Given the description of an element on the screen output the (x, y) to click on. 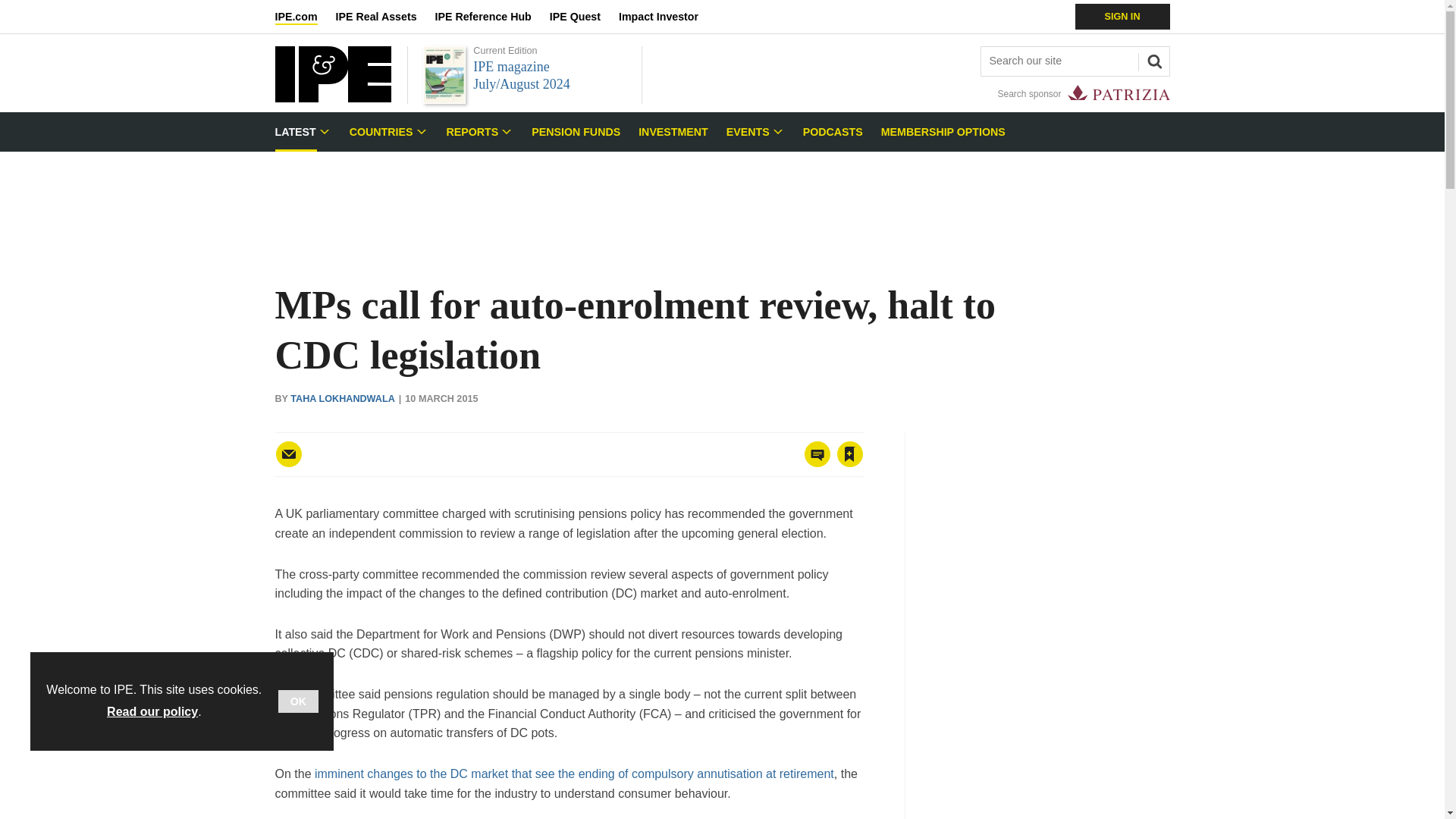
IPE Reference Hub (491, 16)
SEARCH (1152, 59)
Impact Investor (667, 16)
IPE Real Assets (384, 16)
IPE Quest (583, 16)
OK (298, 701)
IPE Real Assets (384, 16)
IPE Reference Hub (491, 16)
Read our policy (152, 711)
IPE Quest (583, 16)
IPE (332, 97)
Email this article (288, 452)
Impact Investor (667, 16)
SIGN IN (1122, 16)
